Given the description of an element on the screen output the (x, y) to click on. 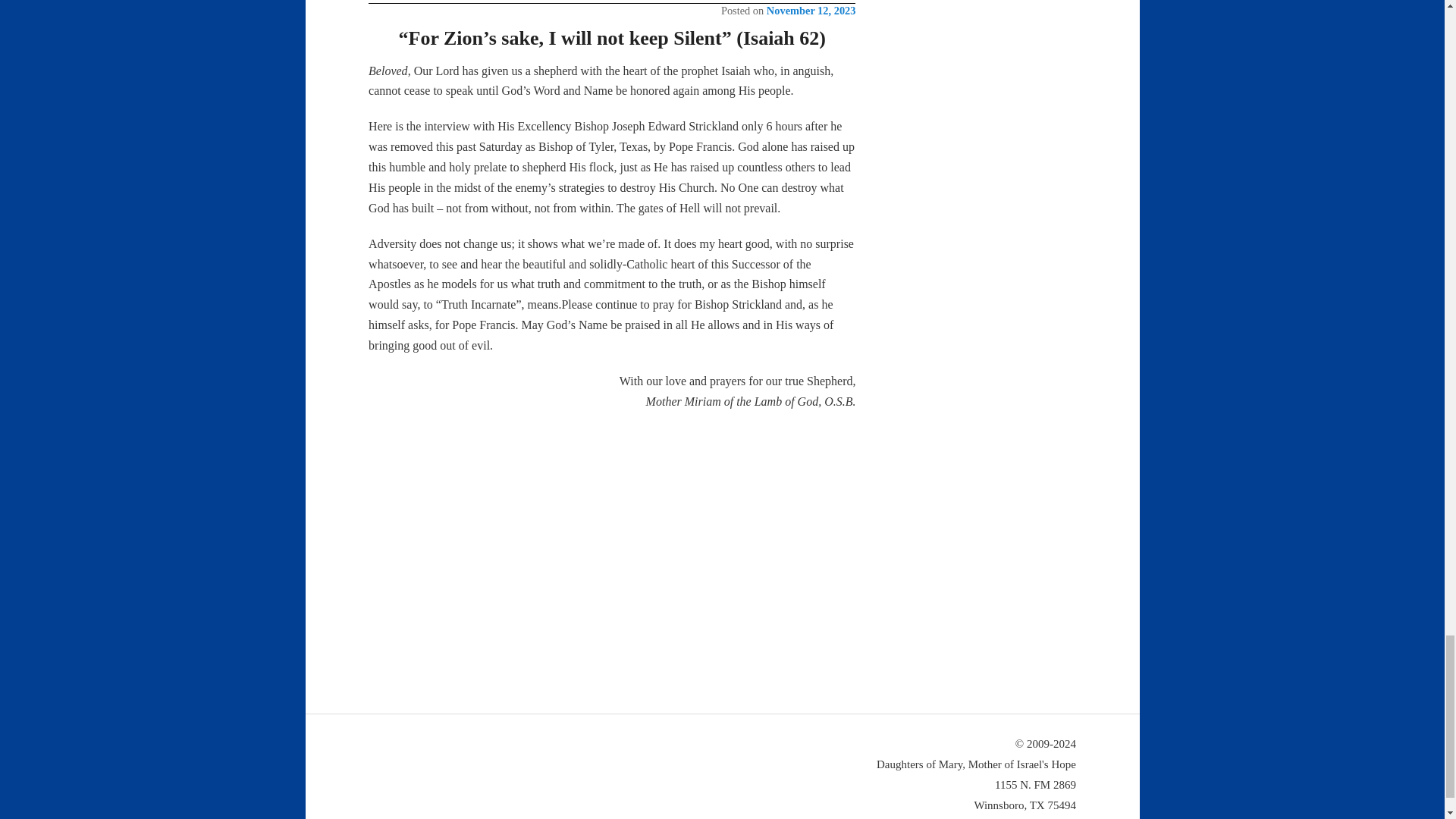
11:19 pm (811, 10)
November 12, 2023 (811, 10)
